Given the description of an element on the screen output the (x, y) to click on. 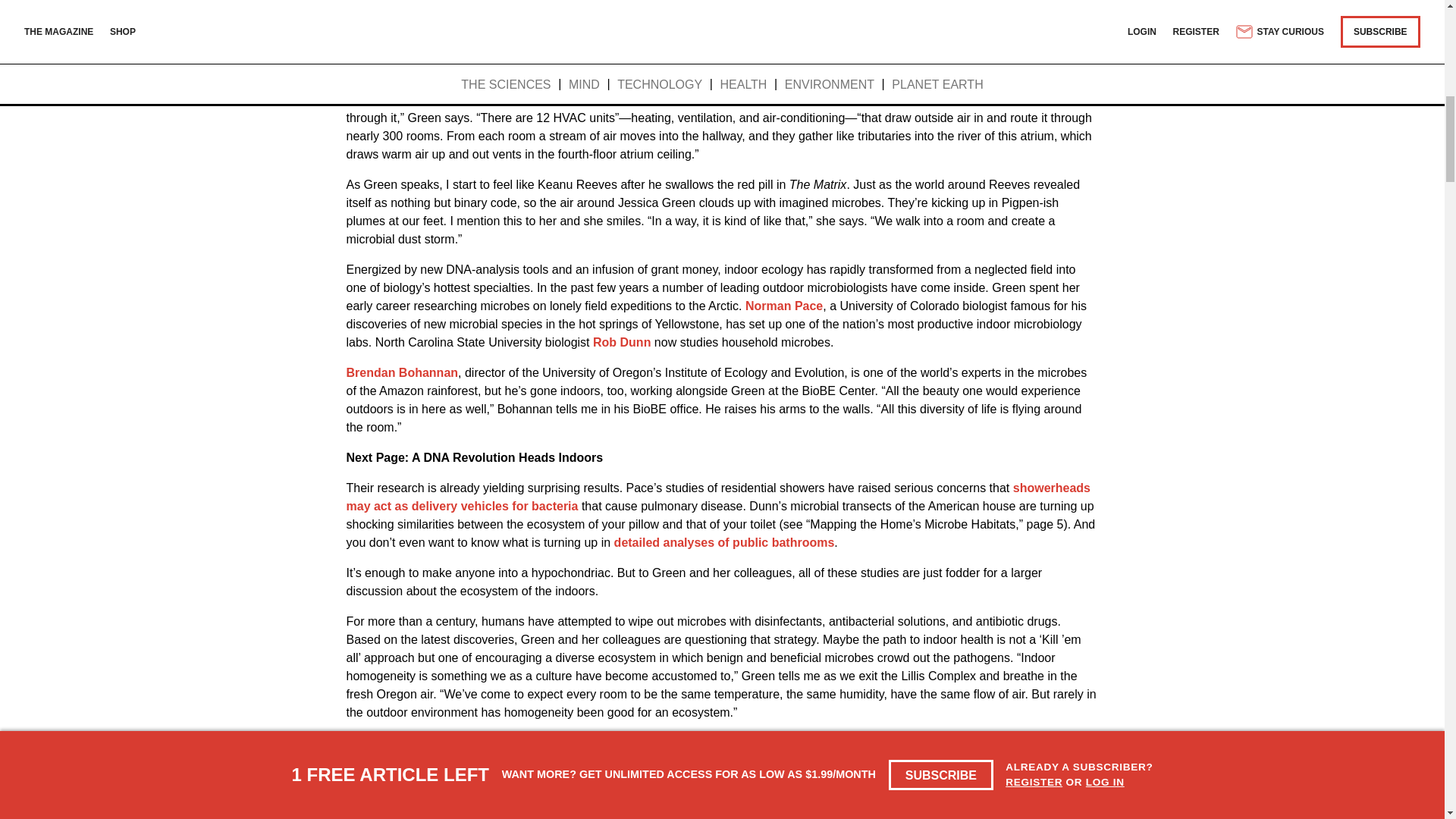
Brendan Bohannan (402, 372)
Rob Dunn (621, 341)
detailed analyses of public bathrooms (724, 542)
Staphylococcus aureus (807, 790)
Norman Pace (783, 305)
showerheads may act as delivery vehicles for bacteria (718, 496)
